Given the description of an element on the screen output the (x, y) to click on. 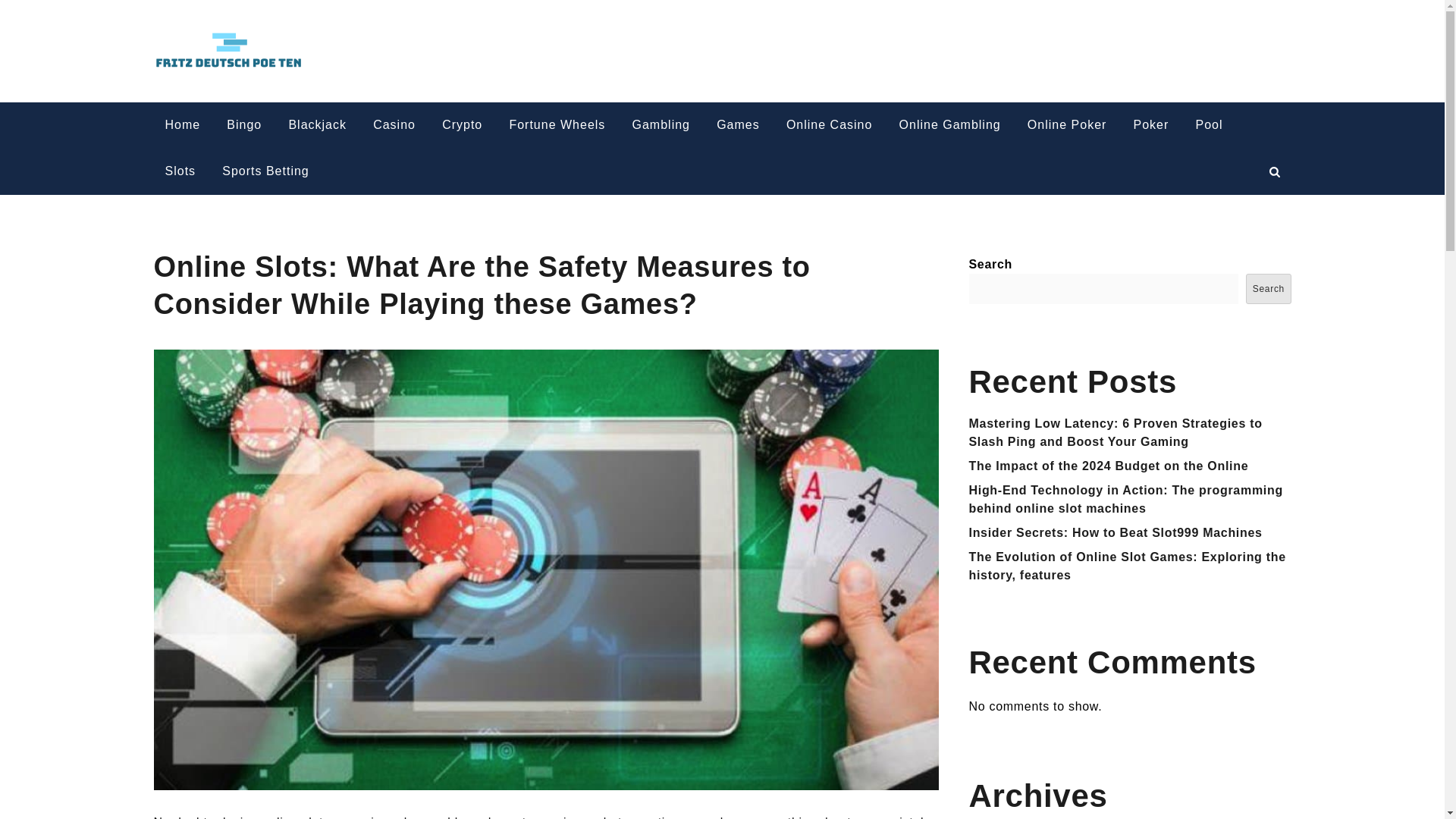
Pool (1208, 125)
Casino (393, 125)
Blackjack (317, 125)
Search (1268, 288)
Home (181, 125)
Online Casino (828, 125)
Gambling (660, 125)
Slots (179, 171)
Sports Betting (265, 171)
Games (737, 125)
